Given the description of an element on the screen output the (x, y) to click on. 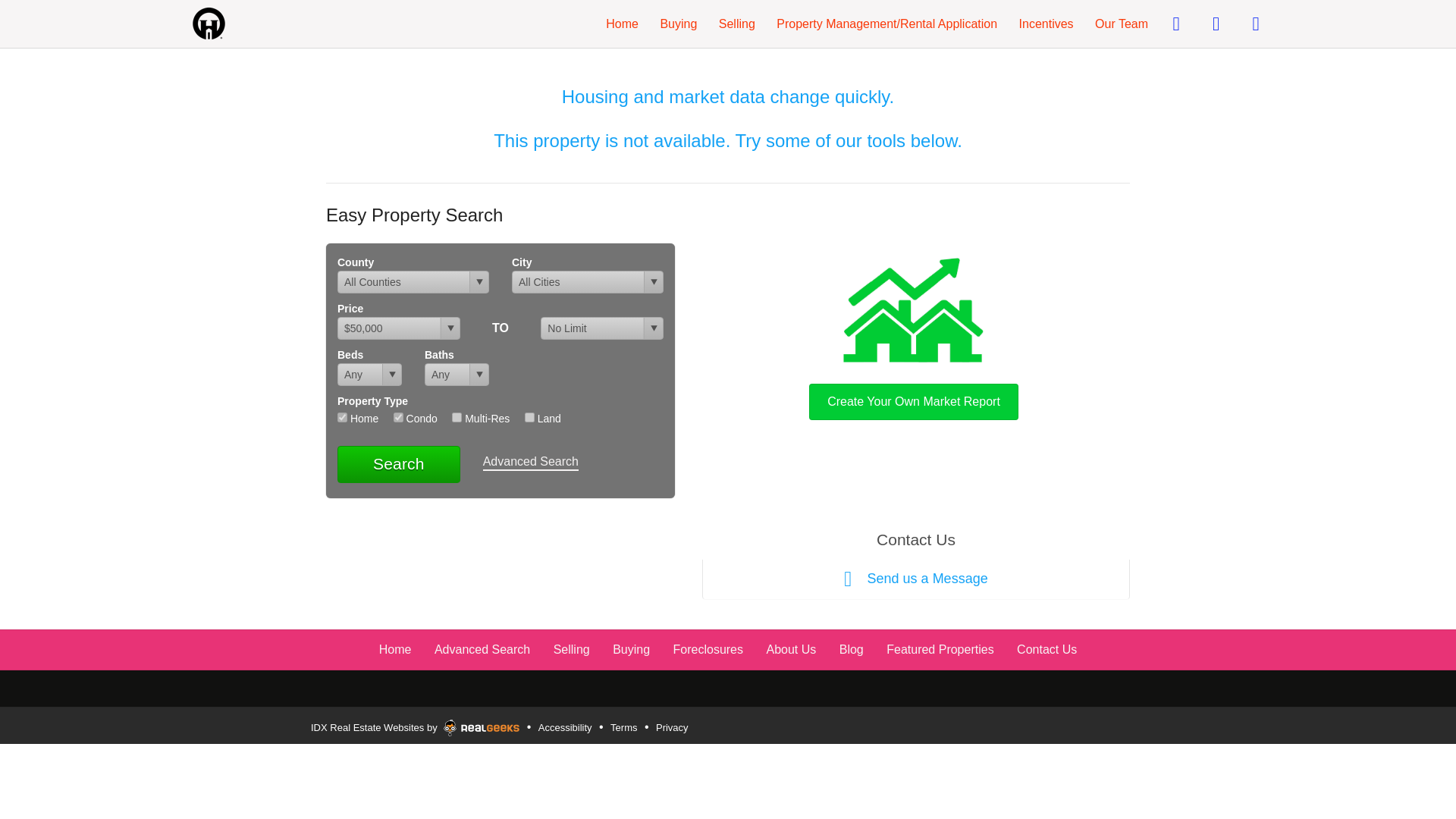
Terms (623, 727)
lnd (529, 417)
Advanced Search (481, 649)
Search (398, 463)
Featured Properties (939, 649)
IDX Real Estate Websites by (414, 724)
Create Your Own Market Report (913, 335)
About Us (790, 649)
con (398, 417)
Home (622, 23)
